Given the description of an element on the screen output the (x, y) to click on. 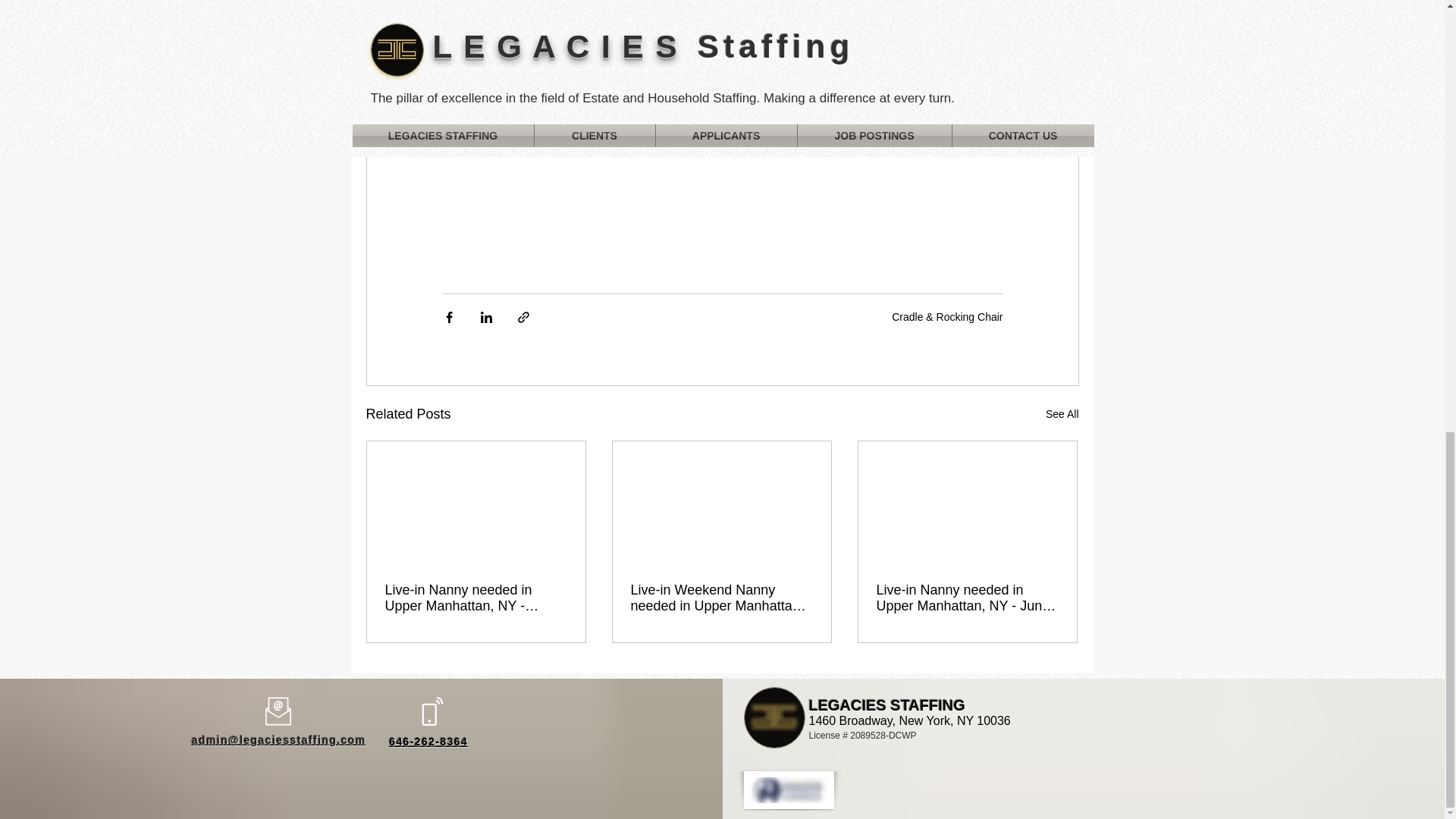
See All (1061, 414)
646-262-8364 (427, 741)
